Given the description of an element on the screen output the (x, y) to click on. 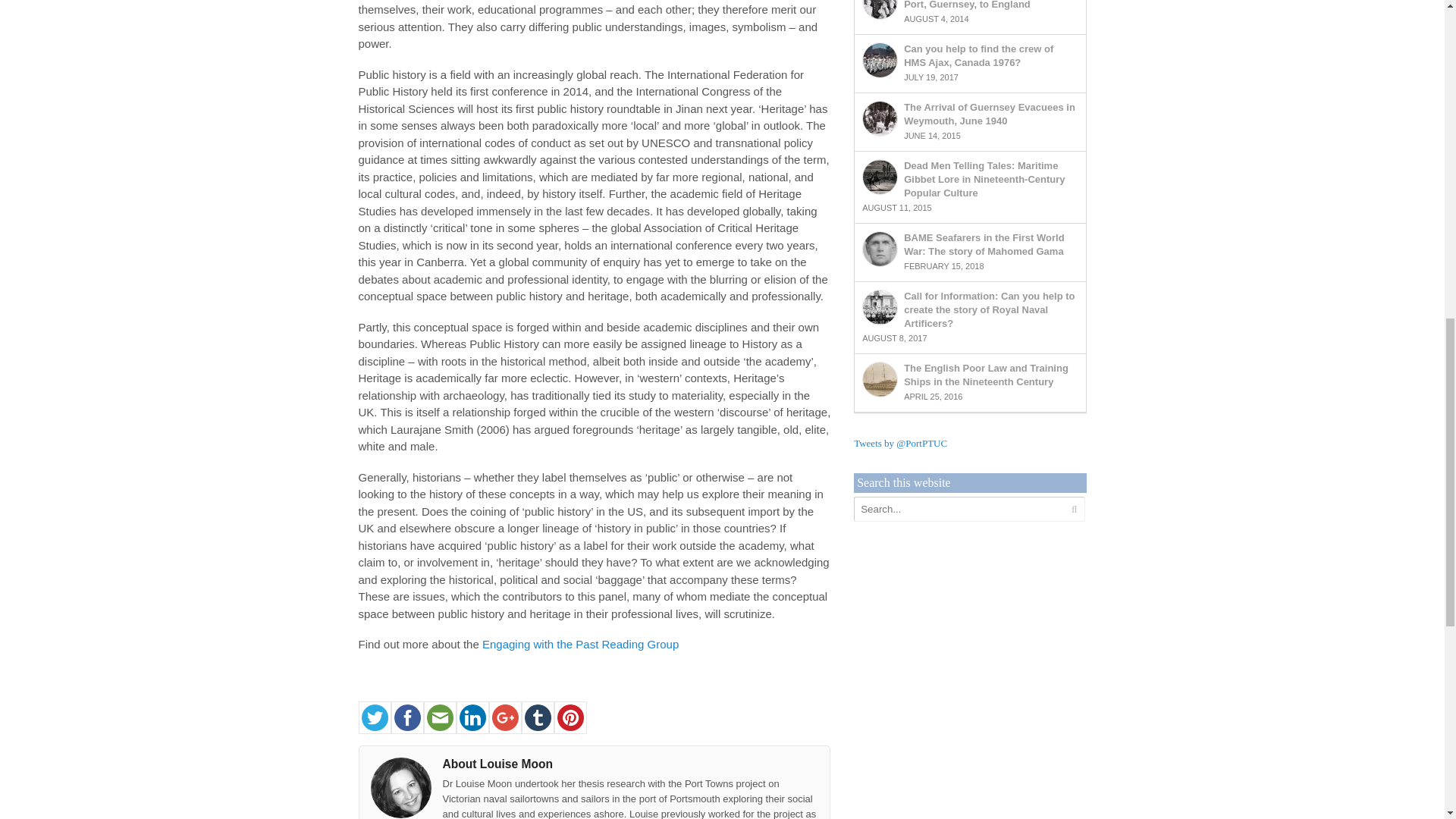
google (504, 717)
facebook (407, 717)
email (439, 717)
linkedin (473, 717)
Engaging with the Past Reading Group (579, 644)
twitter (374, 717)
Search... (958, 508)
